Given the description of an element on the screen output the (x, y) to click on. 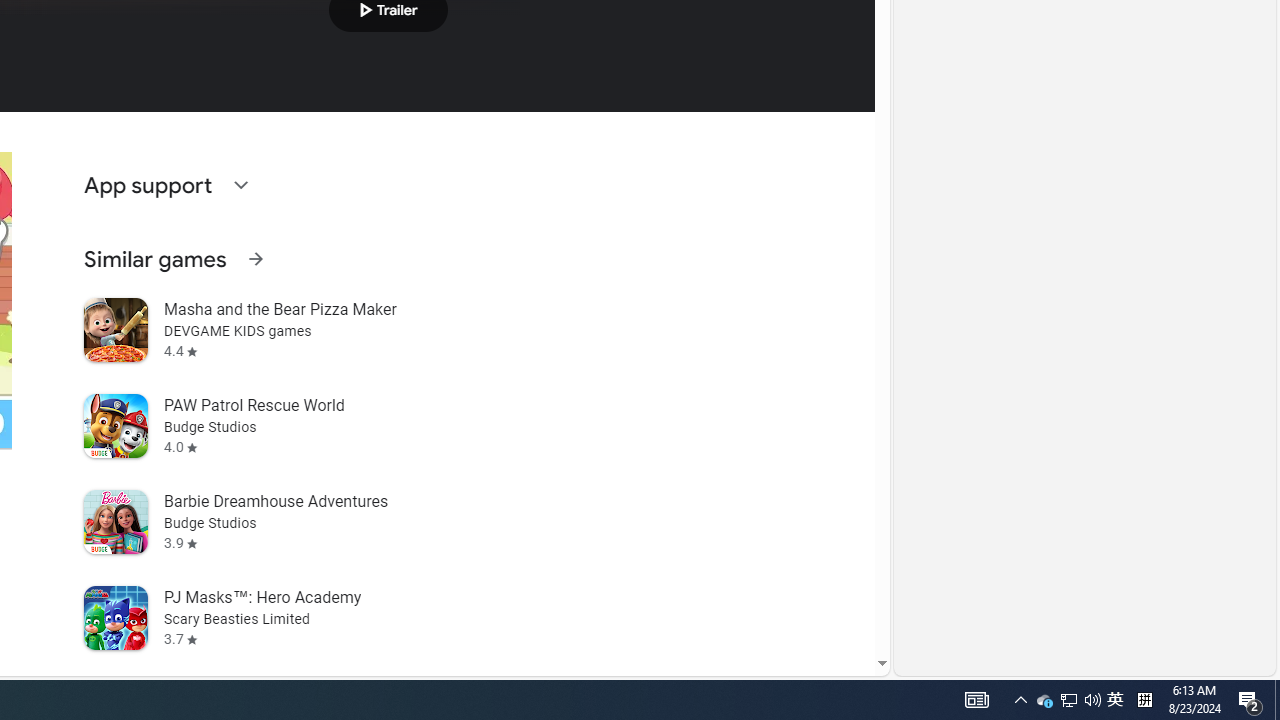
Expand (240, 184)
See more information on Similar games (255, 258)
